Given the description of an element on the screen output the (x, y) to click on. 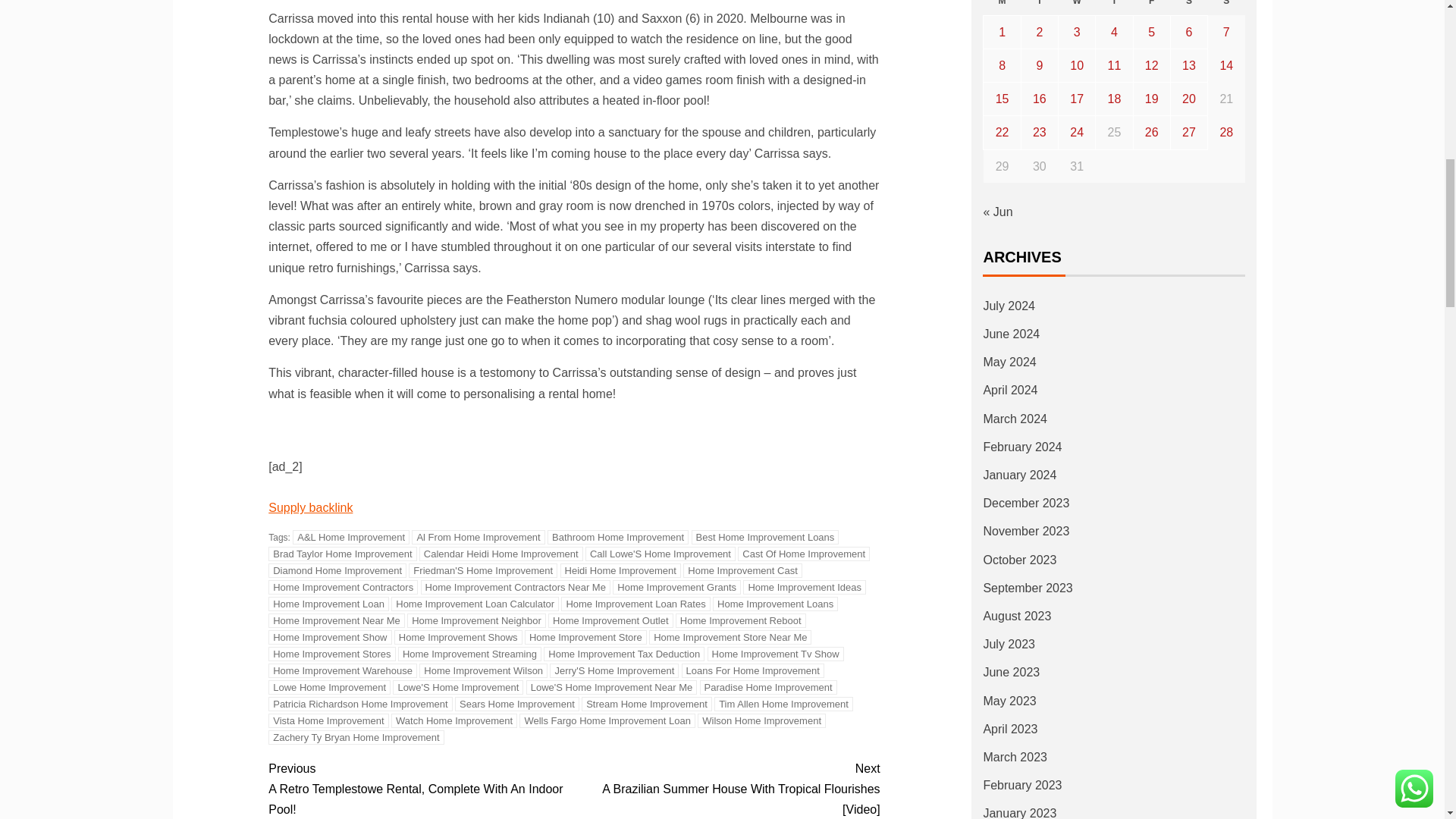
Supply backlink (309, 507)
Al From Home Improvement (478, 536)
Bathroom Home Improvement (617, 536)
Monday (1002, 7)
Best Home Improvement Loans (765, 536)
